Given the description of an element on the screen output the (x, y) to click on. 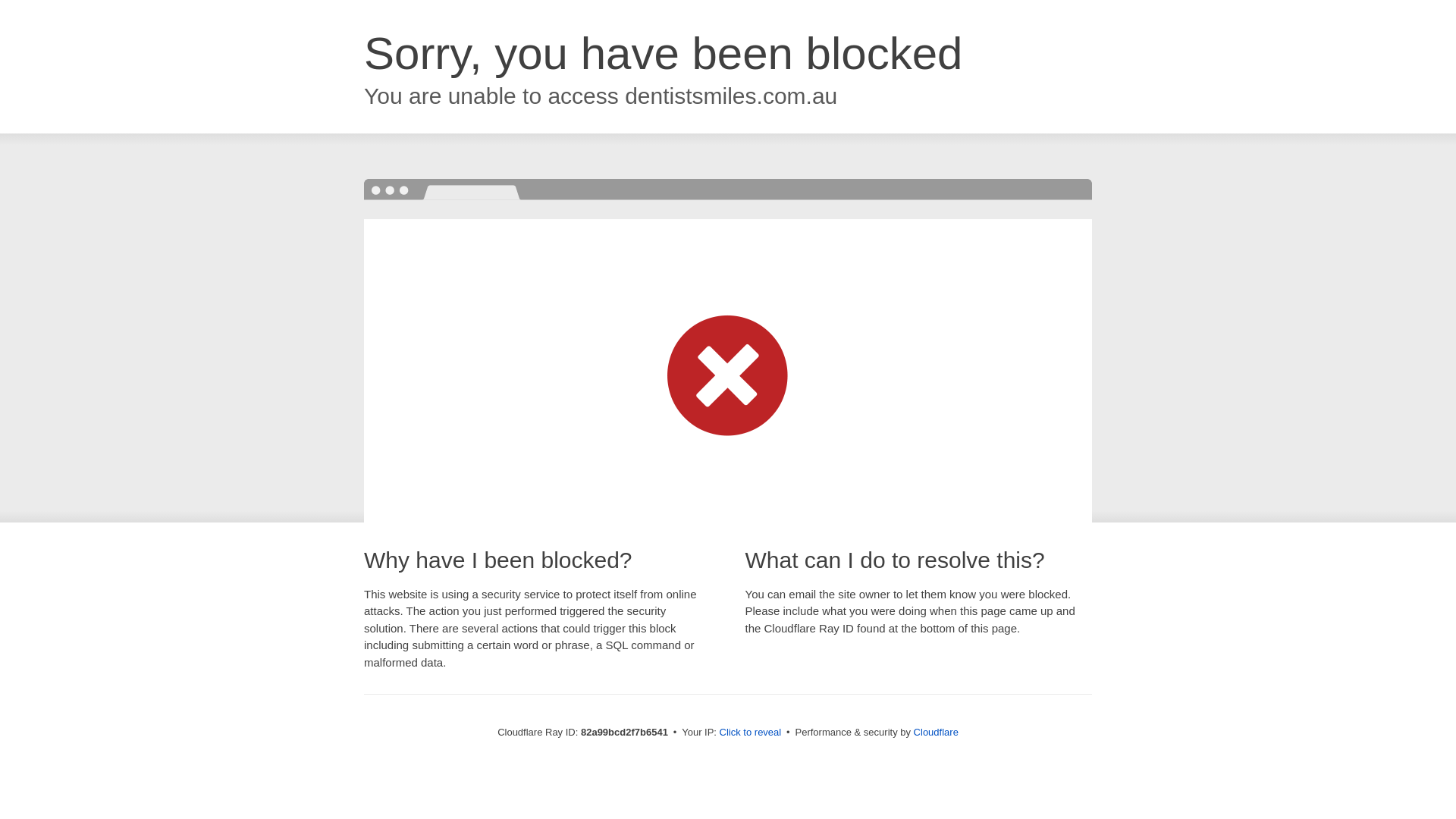
Cloudflare Element type: text (935, 731)
Click to reveal Element type: text (750, 732)
